Given the description of an element on the screen output the (x, y) to click on. 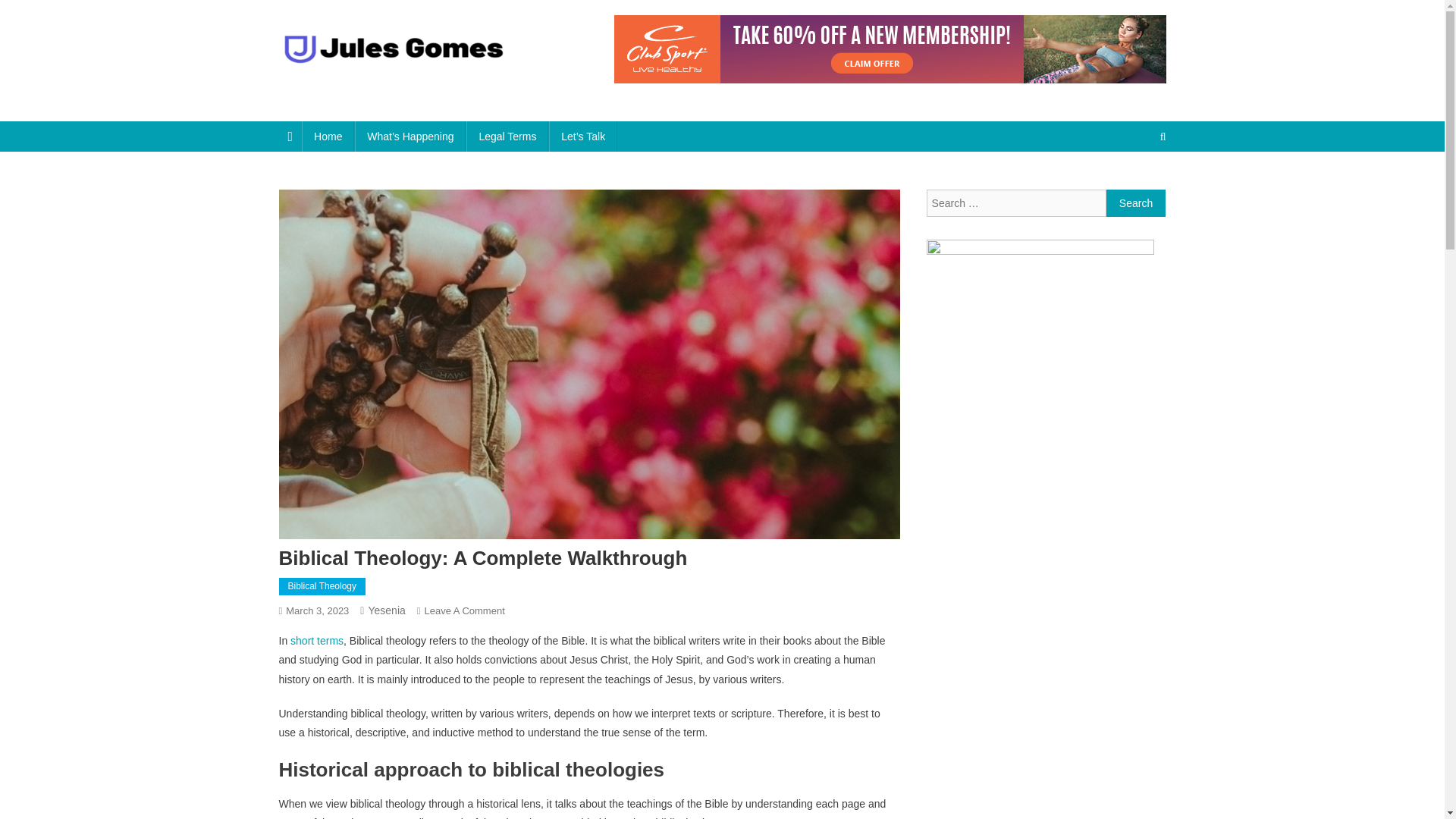
Search (1136, 203)
Home (465, 610)
March 3, 2023 (327, 136)
Search (317, 610)
Search (1136, 203)
Search (1133, 186)
Jules Gomes (1136, 203)
Yesenia (354, 83)
Biblical Theology (386, 610)
